Given the description of an element on the screen output the (x, y) to click on. 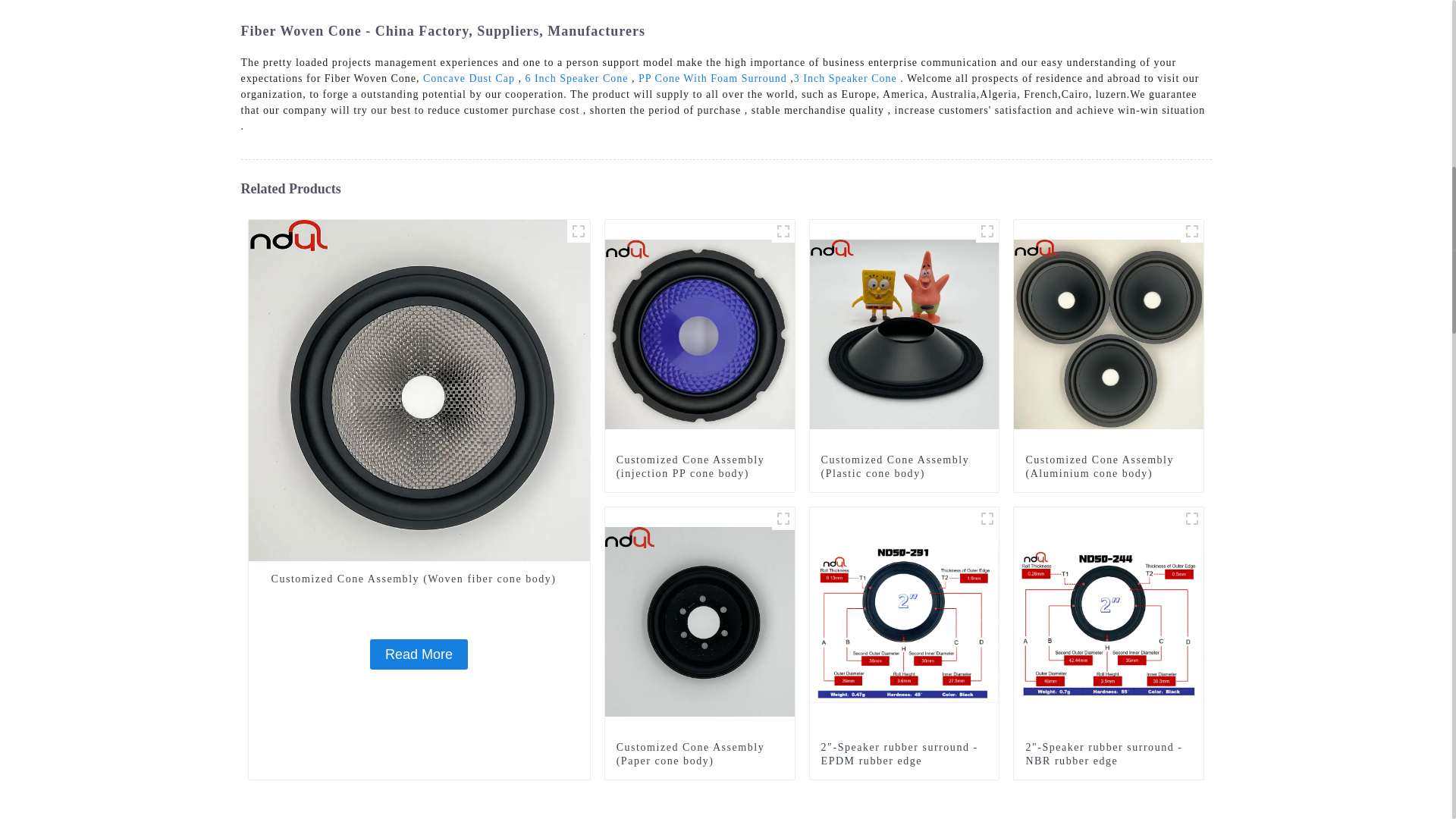
Woven cone body-1 (578, 231)
6 Inch Speaker Cone (575, 78)
Concave Dust Cap (469, 78)
Concave Dust Cap (469, 78)
3 Inch Speaker Cone (844, 78)
9 (1192, 231)
PP Cone With Foam Surround (713, 78)
PP Cone With Foam Surround (713, 78)
23 (986, 231)
6 Inch Speaker Cone (575, 78)
